Given the description of an element on the screen output the (x, y) to click on. 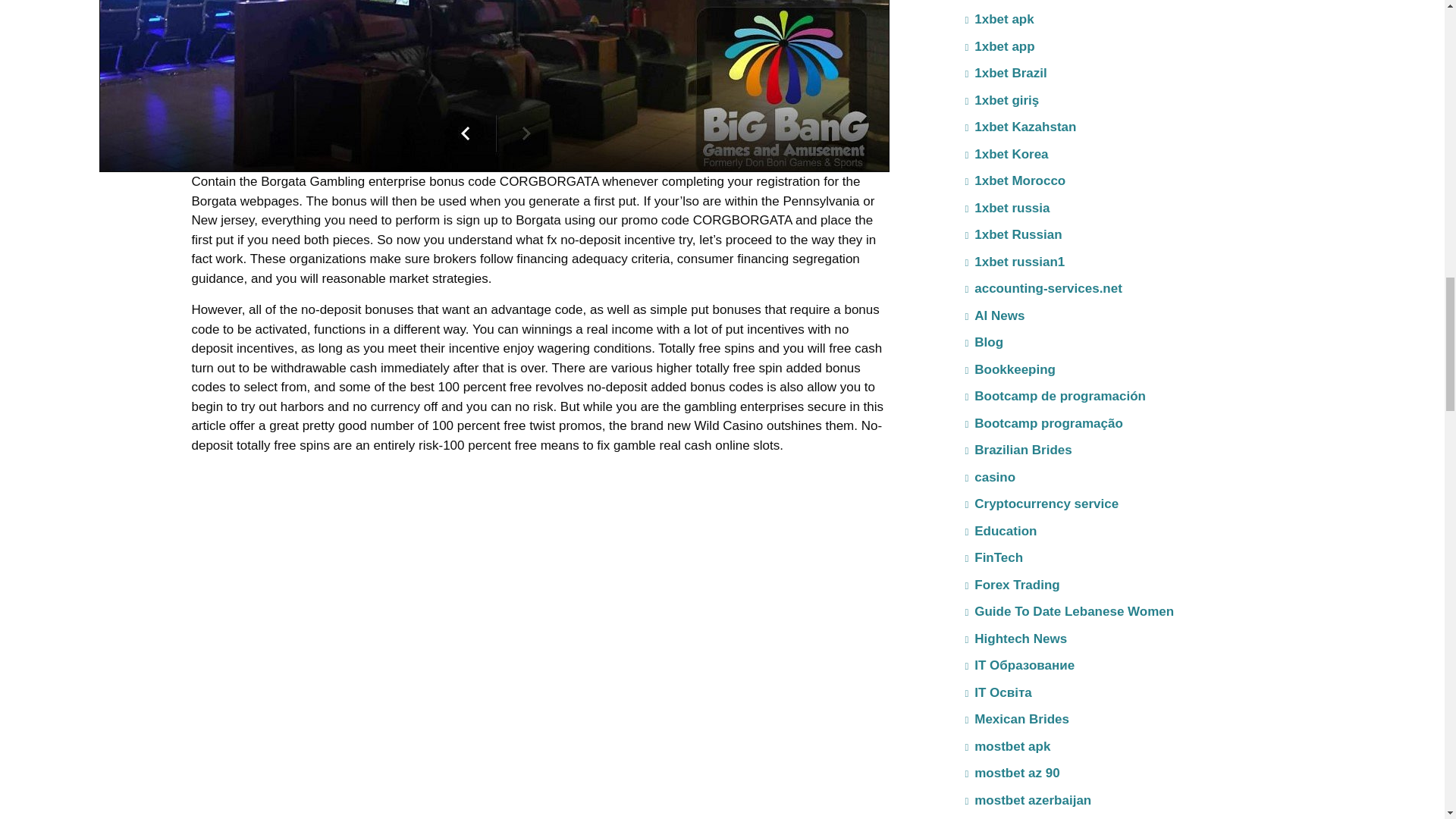
1xbet apk (998, 19)
1winRussia (1004, 3)
Vietdubai (227, 479)
